Given the description of an element on the screen output the (x, y) to click on. 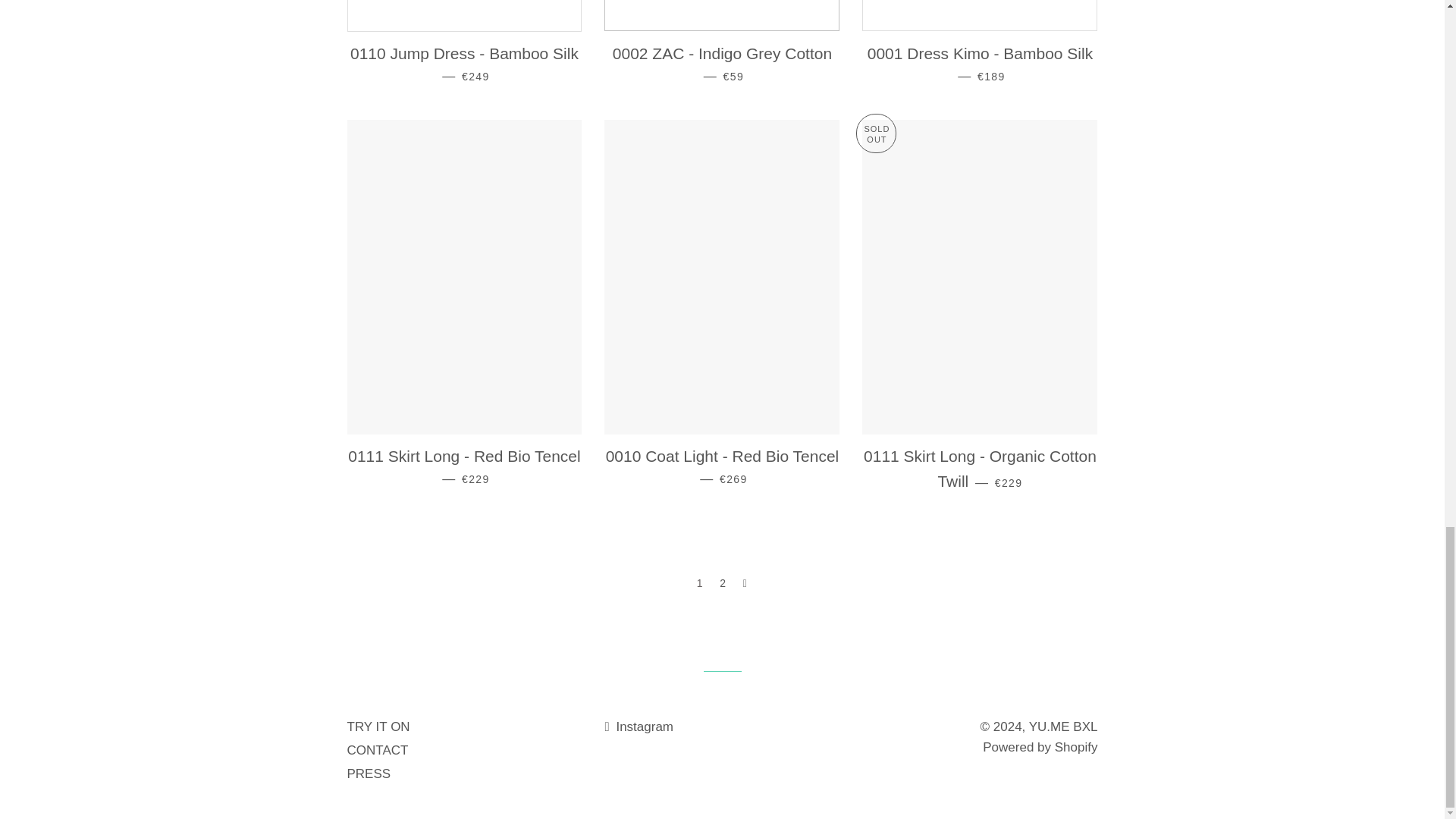
YU.ME BXL on Instagram (638, 726)
